Given the description of an element on the screen output the (x, y) to click on. 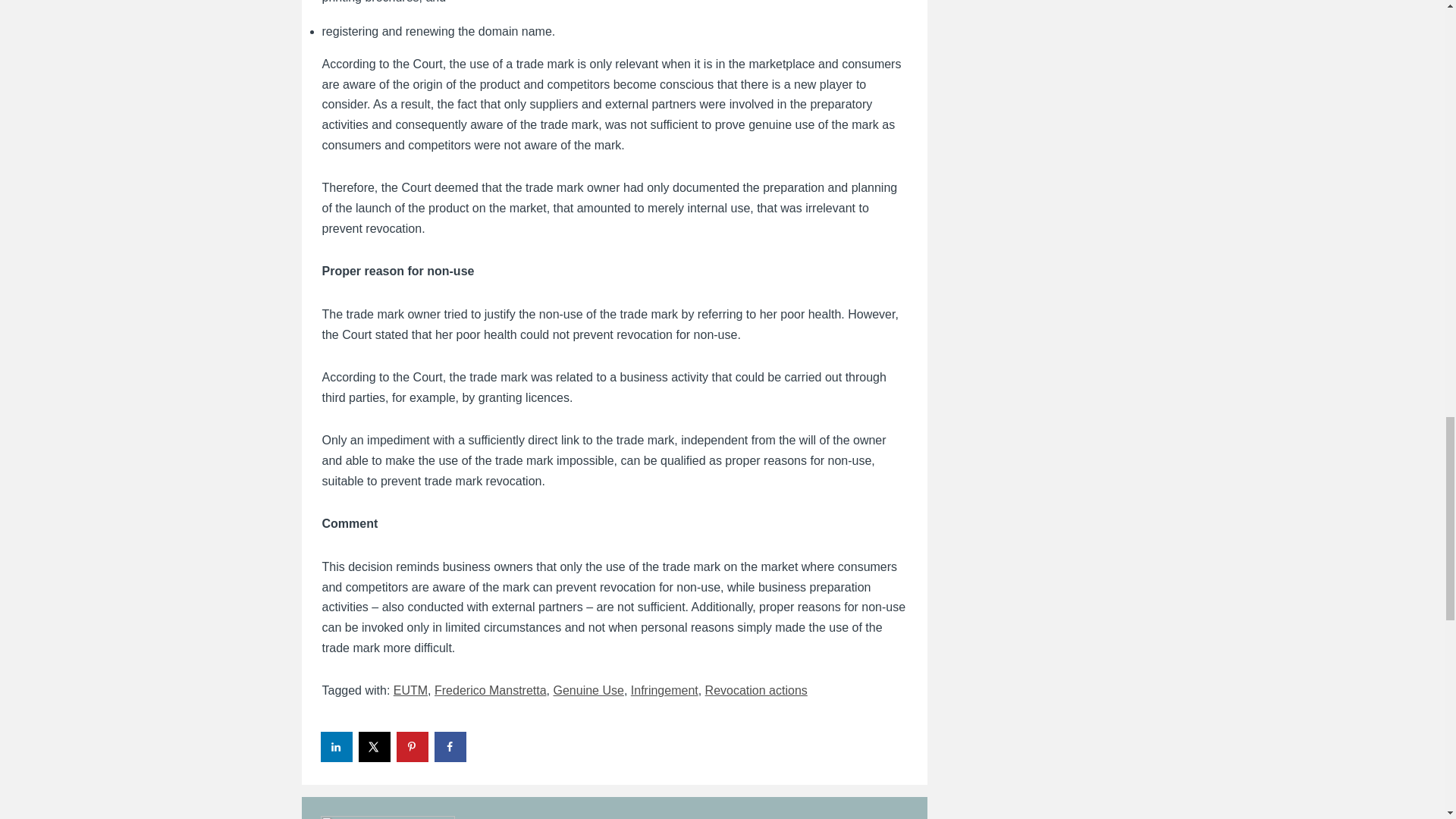
Frederico Manstretta (490, 689)
Infringement (664, 689)
Genuine Use (588, 689)
Revocation actions (756, 689)
EUTM (410, 689)
Share on Facebook (450, 747)
Share on LinkedIn (336, 747)
Save to Pinterest (412, 747)
Share on X (374, 747)
